Given the description of an element on the screen output the (x, y) to click on. 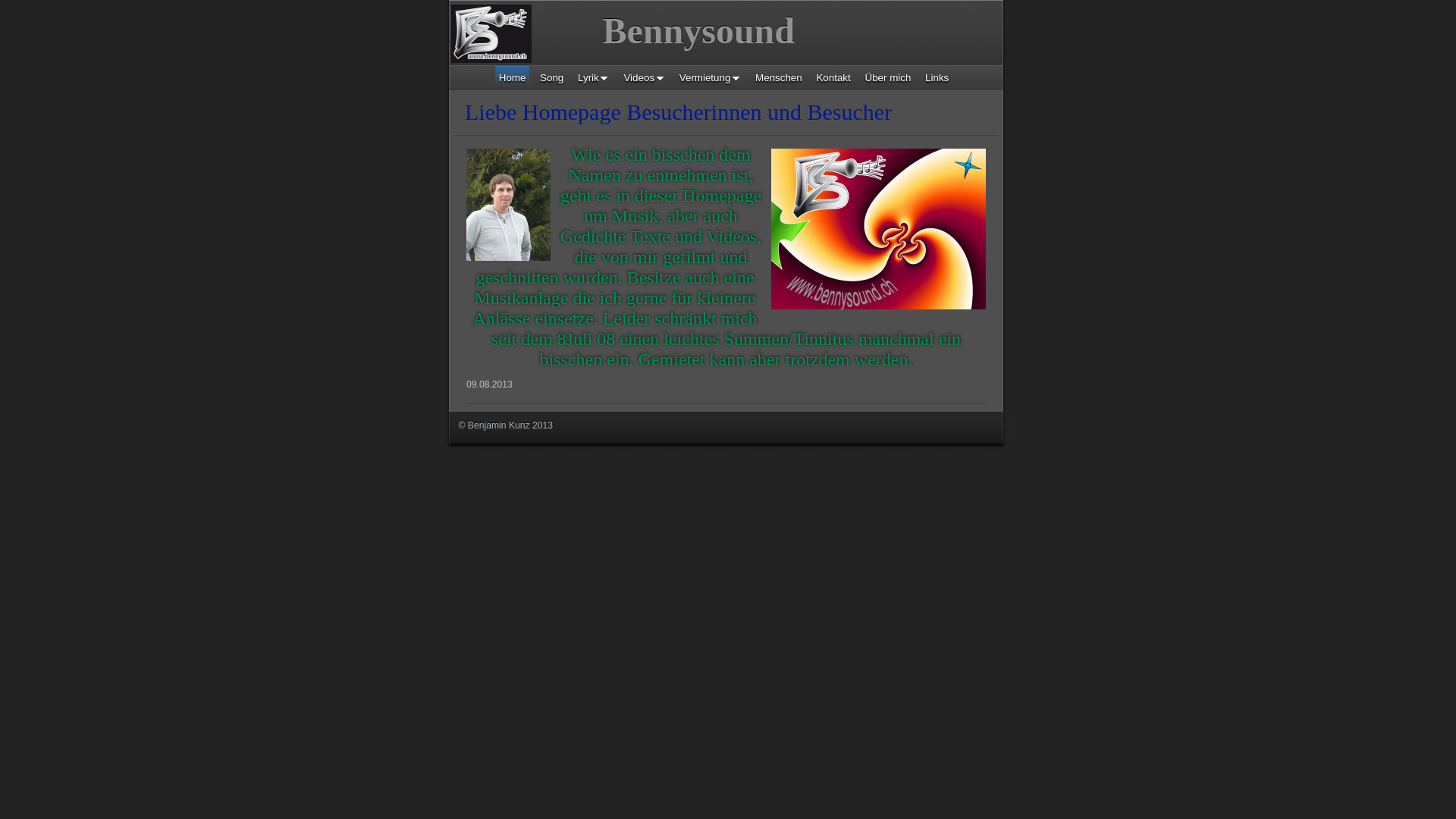
Song Element type: text (551, 77)
Menschen Element type: text (778, 77)
Lyrik Element type: text (593, 77)
Vermietung Element type: text (710, 77)
Kontakt Element type: text (832, 77)
Links Element type: text (936, 77)
Videos Element type: text (644, 77)
